Given the description of an element on the screen output the (x, y) to click on. 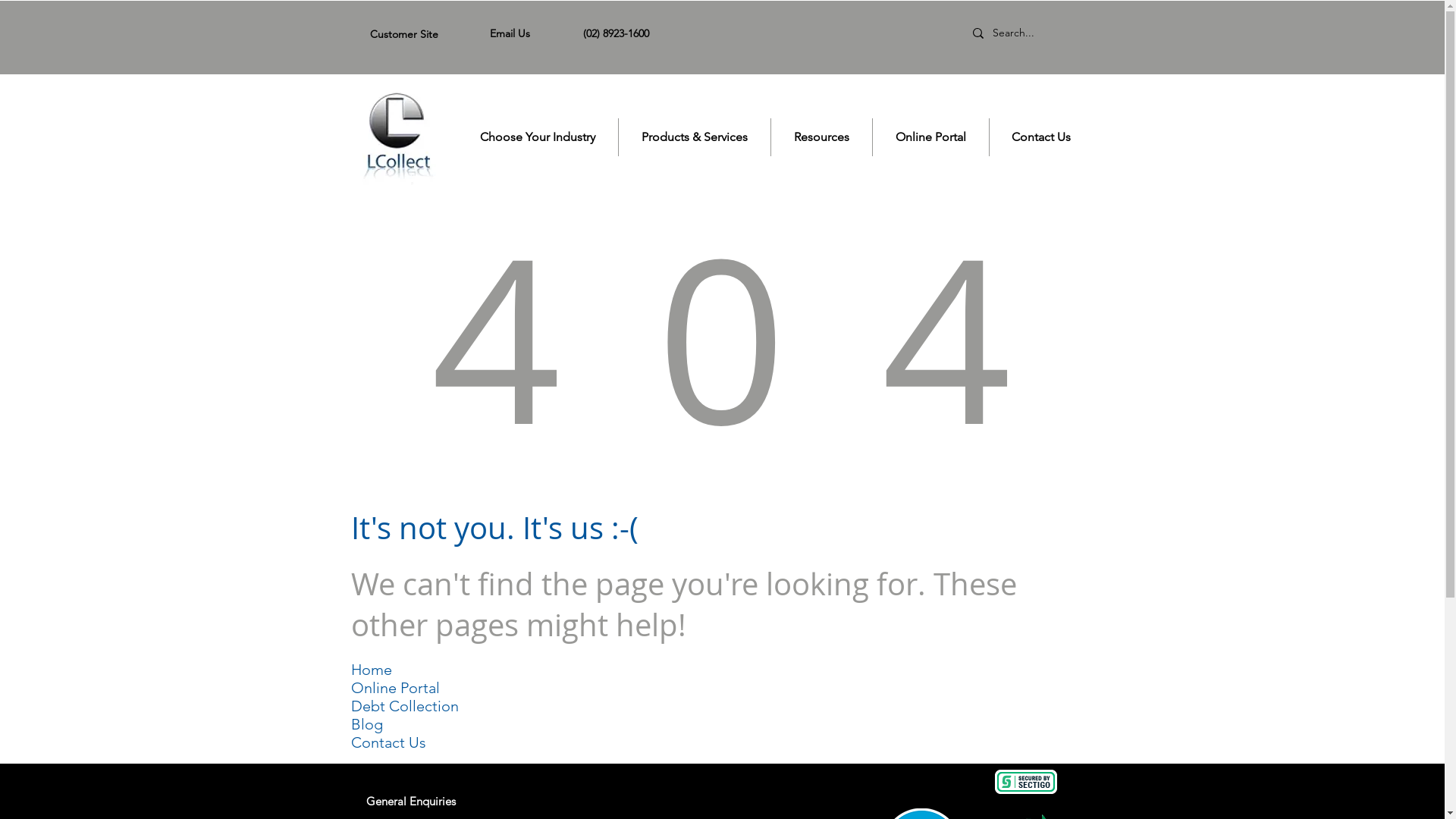
(02) 8923-1600 Element type: text (616, 33)
Email Us Element type: text (509, 33)
Online Portal Element type: text (930, 137)
Contact Us Element type: text (387, 742)
Home Element type: hover (395, 138)
Home Element type: text (370, 669)
Blog Element type: text (366, 724)
Contact Us Element type: text (1040, 137)
Online Portal Element type: text (394, 687)
Customer Site Element type: text (404, 33)
Debt Collection Element type: text (404, 705)
